Given the description of an element on the screen output the (x, y) to click on. 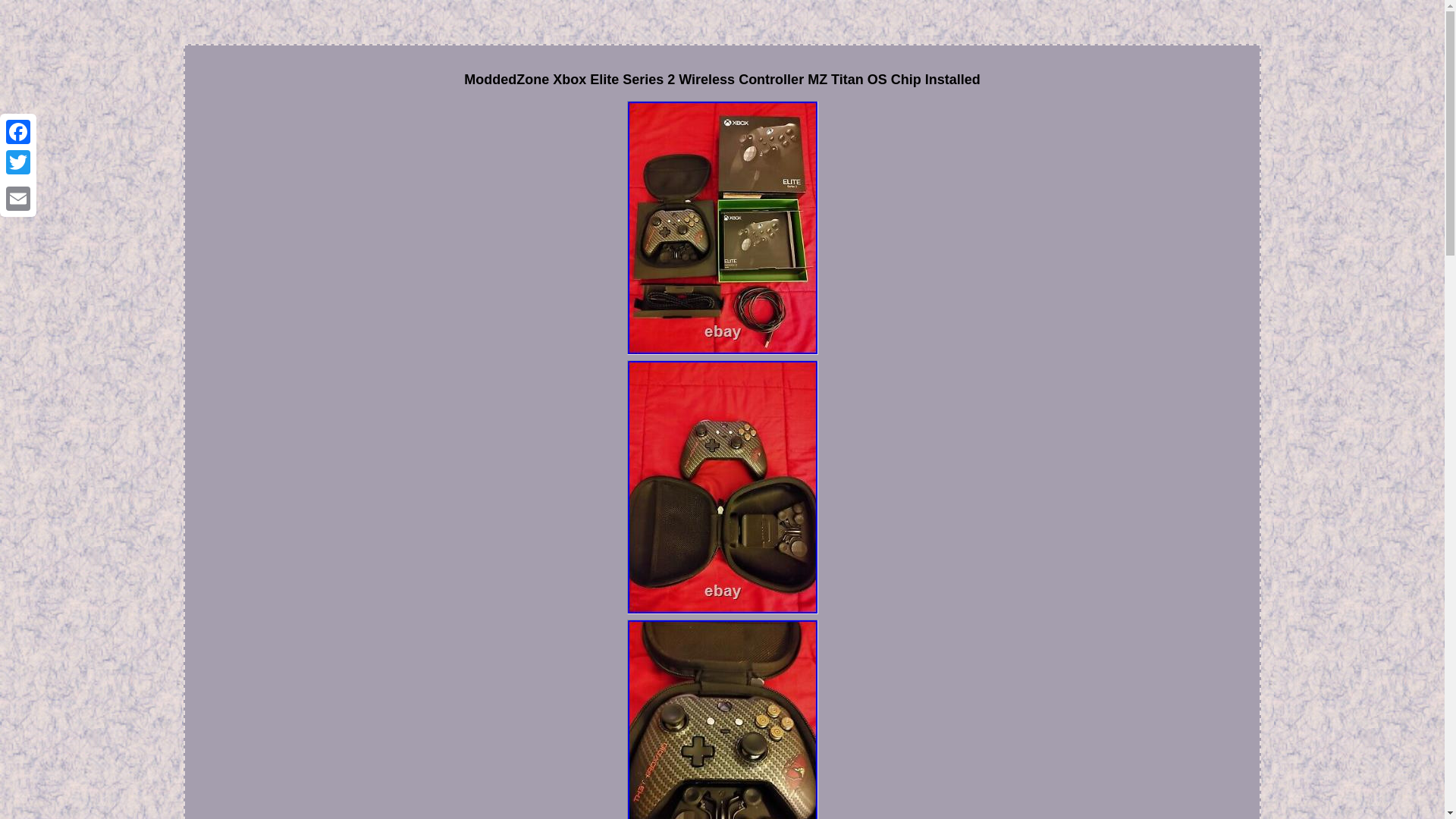
Email (17, 198)
Twitter (17, 162)
Facebook (17, 132)
